Given the description of an element on the screen output the (x, y) to click on. 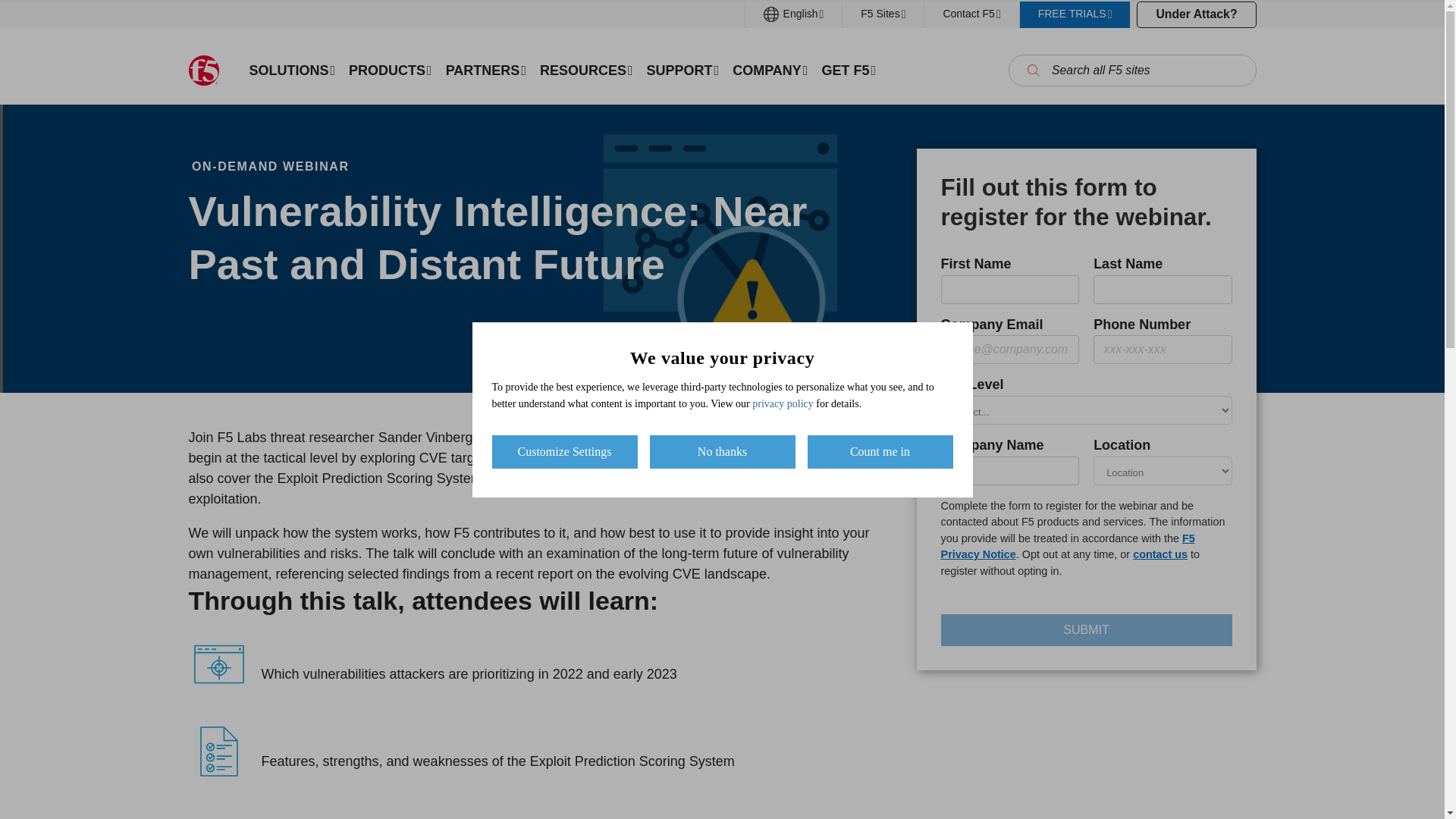
GET F5 (847, 69)
F5 Sites (883, 13)
contact us (1160, 553)
Under Attack? (1196, 14)
SUPPORT (683, 69)
COMPANY (769, 69)
Last Name (1162, 289)
First Name (1009, 289)
Company Email (1009, 348)
F5 Privacy Notice (1067, 546)
Contact F5 (970, 13)
English (794, 13)
RESOURCES (586, 69)
Phone Number (1162, 348)
SOLUTIONS (292, 69)
